Given the description of an element on the screen output the (x, y) to click on. 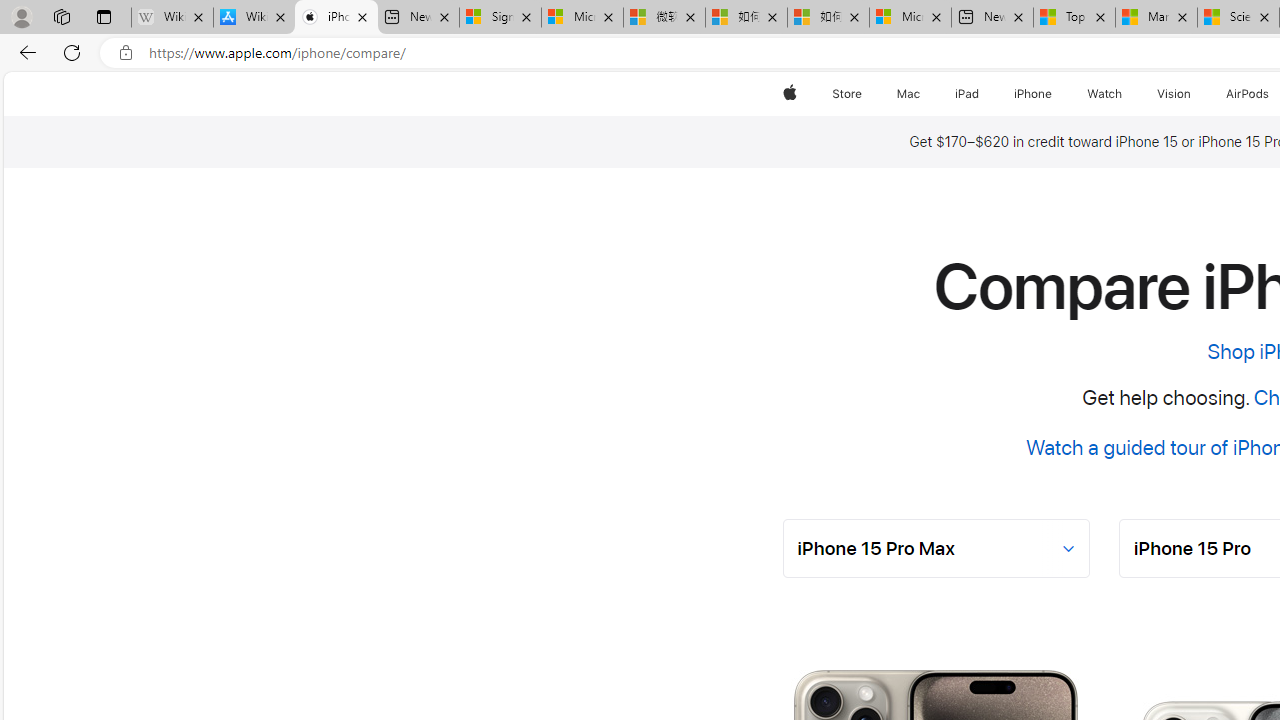
Class: globalnav-submenu-trigger-item (1195, 93)
Vision menu (1195, 93)
iPad menu (982, 93)
AirPods (1247, 93)
Apple (789, 93)
iPhone (1033, 93)
iPad (965, 93)
iPad (965, 93)
